Given the description of an element on the screen output the (x, y) to click on. 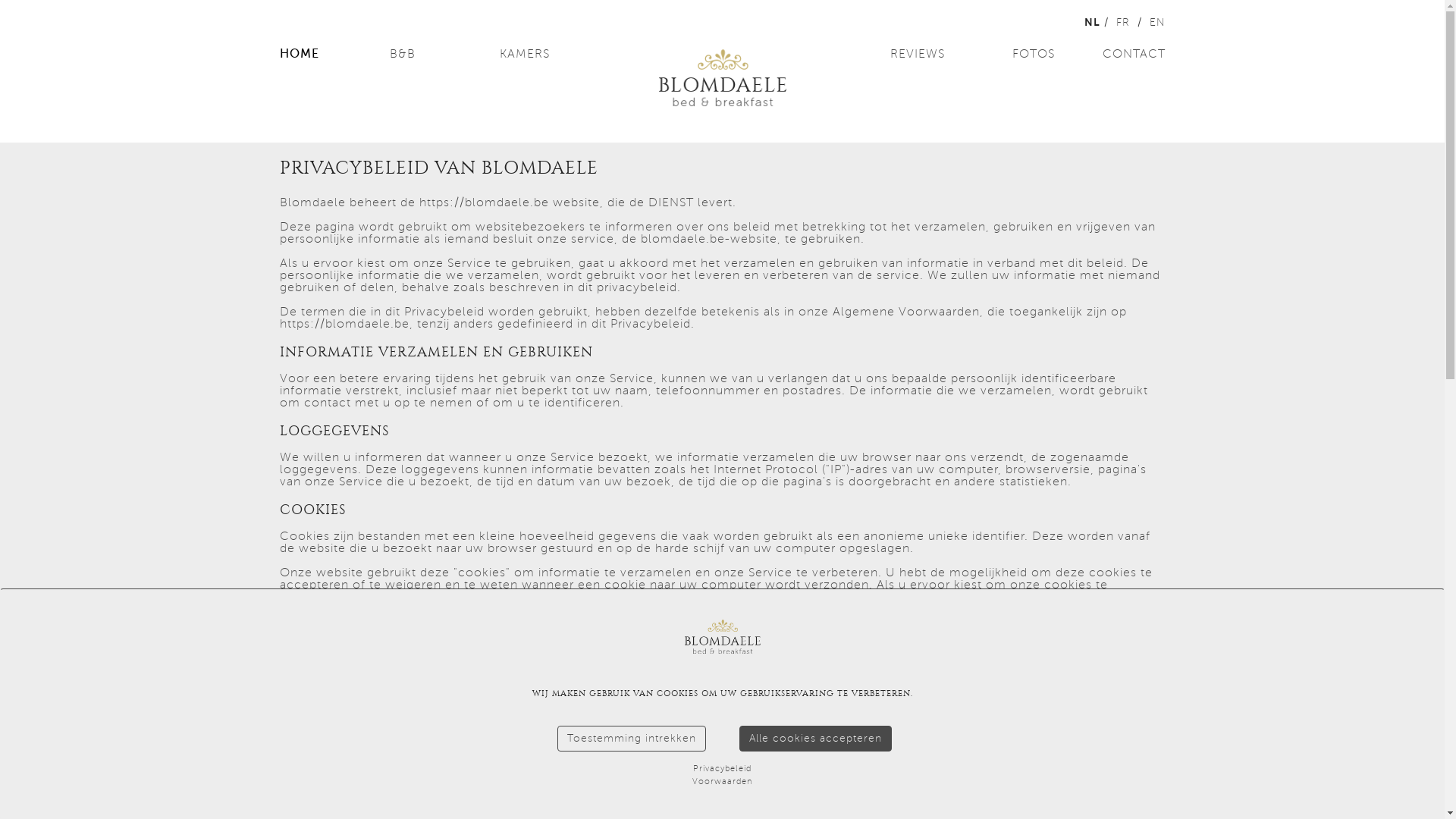
Alle cookies accepteren Element type: text (814, 738)
HOME Element type: text (332, 53)
KAMERS Element type: text (552, 53)
FR Element type: text (1122, 22)
Privacybeleid Element type: text (722, 768)
B&B Element type: text (442, 53)
FOTOS Element type: text (1001, 53)
Voorwaarden Element type: text (722, 781)
REVIEWS Element type: text (890, 53)
NL Element type: text (1092, 21)
Toestemming intrekken Element type: text (630, 738)
EN Element type: text (1157, 22)
CONTACT Element type: text (1111, 53)
